Given the description of an element on the screen output the (x, y) to click on. 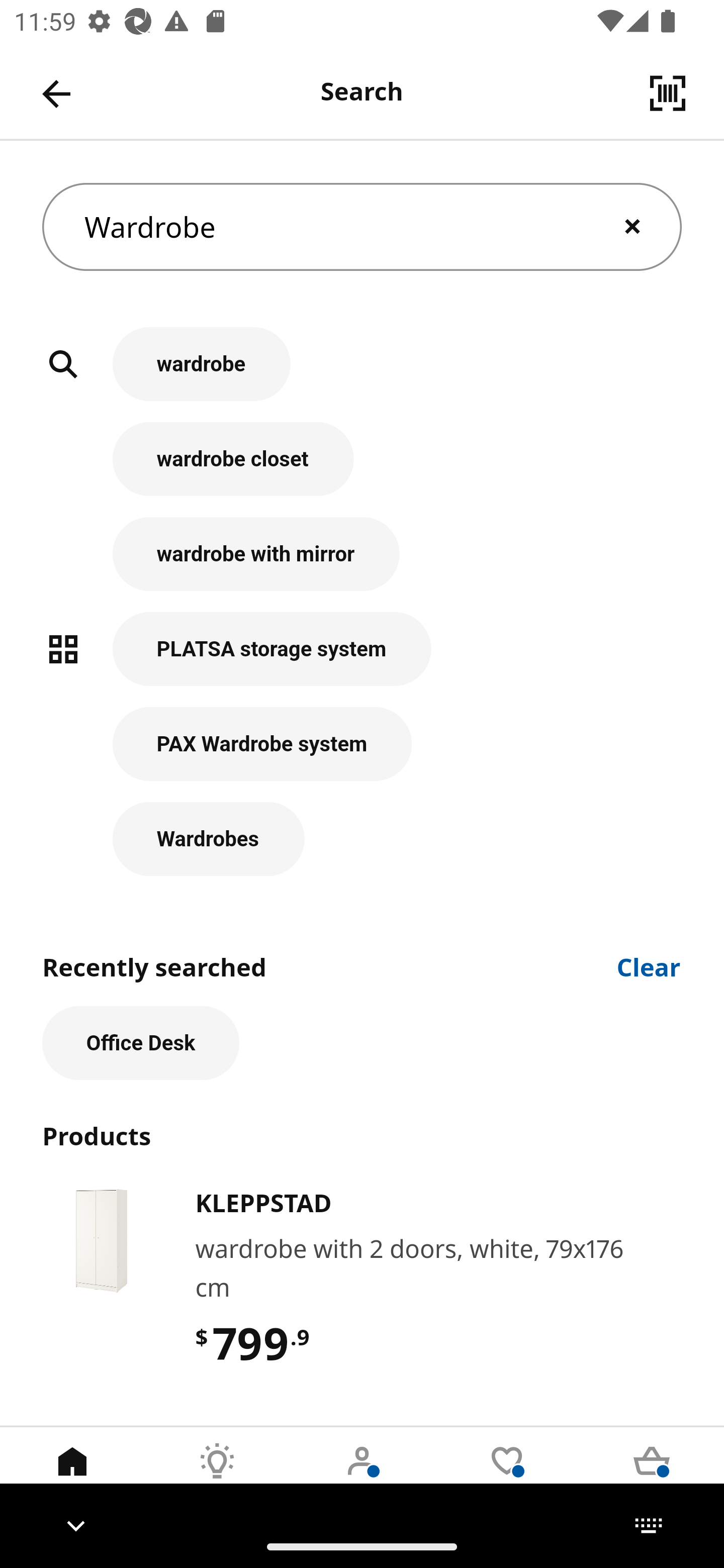
Wardrobe (361, 227)
wardrobe (361, 374)
wardrobe closet (361, 469)
wardrobe with mirror (361, 564)
PLATSA storage system (361, 659)
PAX Wardrobe system (361, 754)
Wardrobes (361, 839)
Clear (649, 965)
Office Desk (140, 1043)
Home
Tab 1 of 5 (72, 1476)
Inspirations
Tab 2 of 5 (216, 1476)
User
Tab 3 of 5 (361, 1476)
Wishlist
Tab 4 of 5 (506, 1476)
Cart
Tab 5 of 5 (651, 1476)
